Given the description of an element on the screen output the (x, y) to click on. 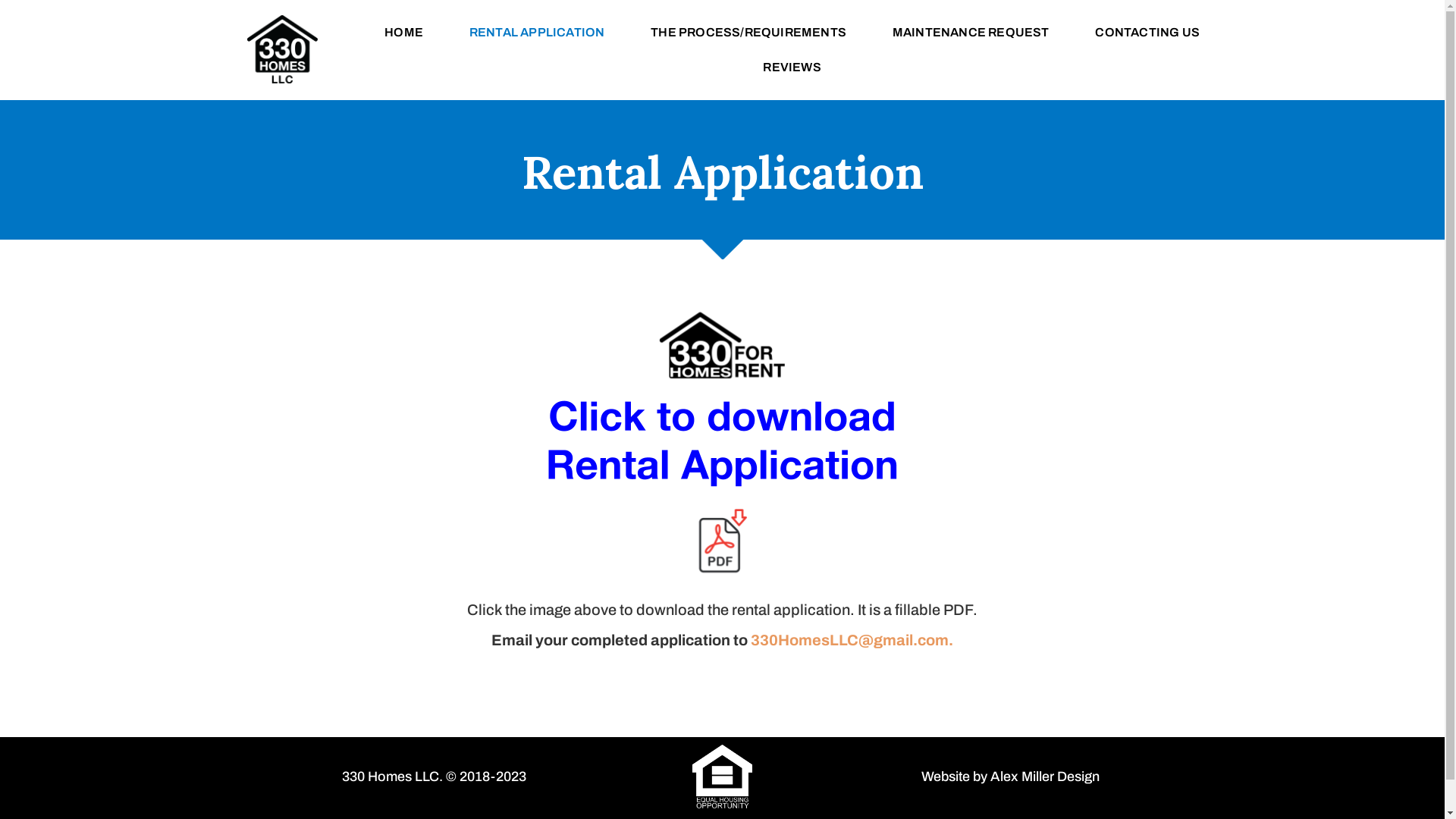
REVIEWS Element type: text (792, 67)
330HomesLLC@gmail.com. Element type: text (851, 639)
RENTAL APPLICATION Element type: text (536, 32)
HOME Element type: text (403, 32)
MAINTENANCE REQUEST Element type: text (970, 32)
Website by Alex Miller Design Element type: text (1010, 776)
THE PROCESS/REQUIREMENTS Element type: text (748, 32)
CONTACTING US Element type: text (1147, 32)
